Given the description of an element on the screen output the (x, y) to click on. 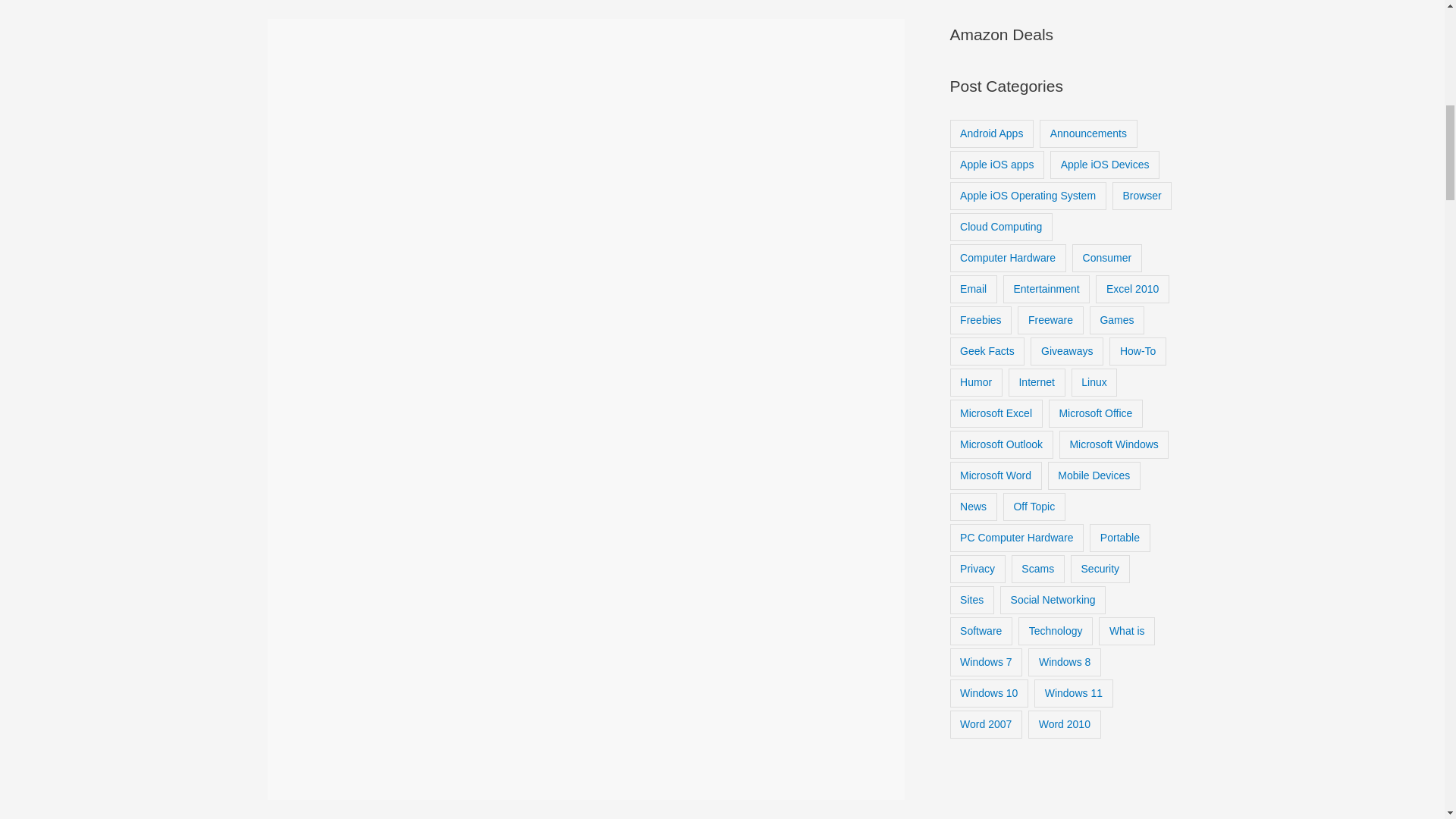
3rd party ad content (585, 459)
3rd party ad content (585, 709)
